Given the description of an element on the screen output the (x, y) to click on. 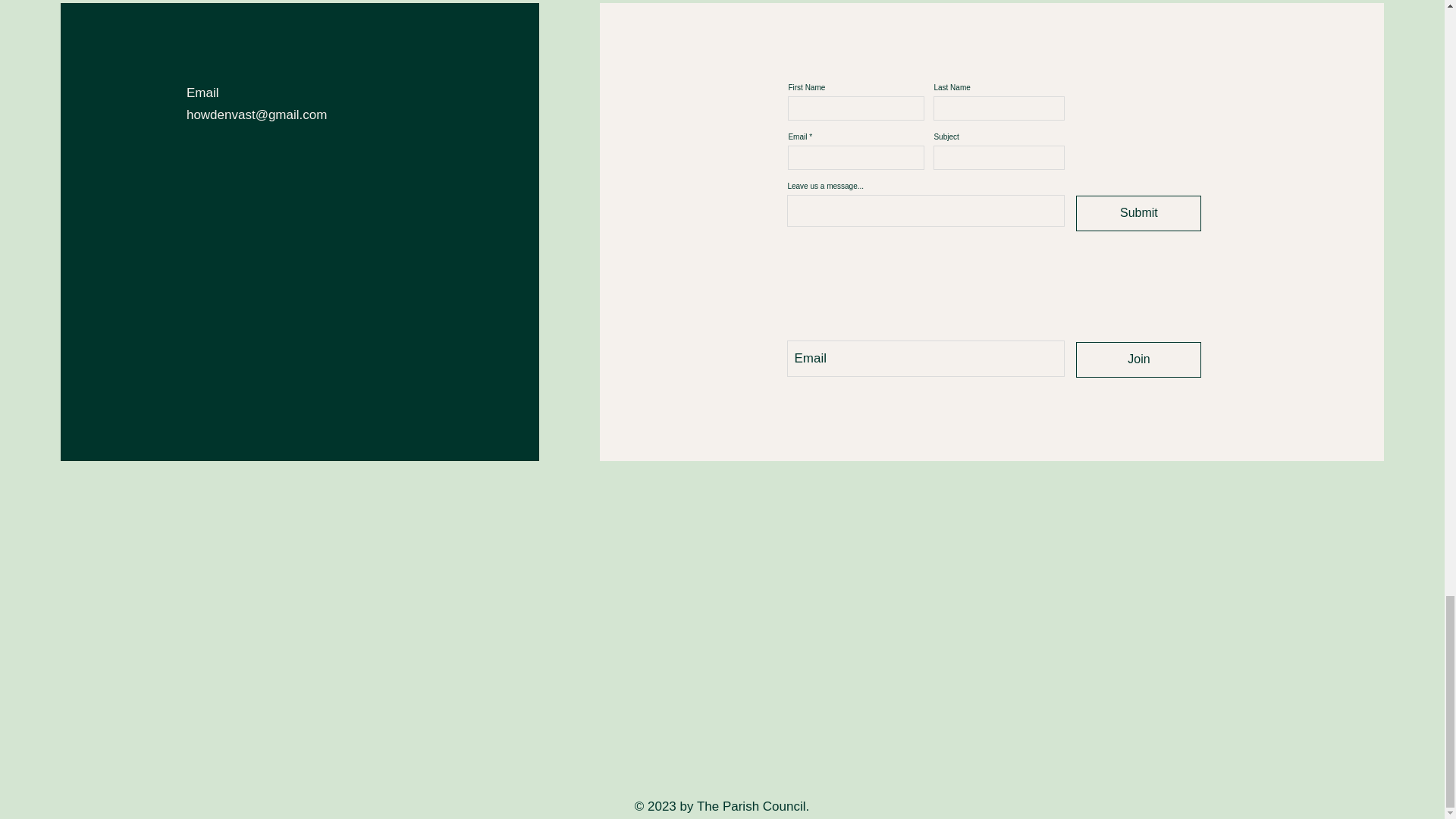
Submit (1138, 212)
Join (1138, 359)
